Given the description of an element on the screen output the (x, y) to click on. 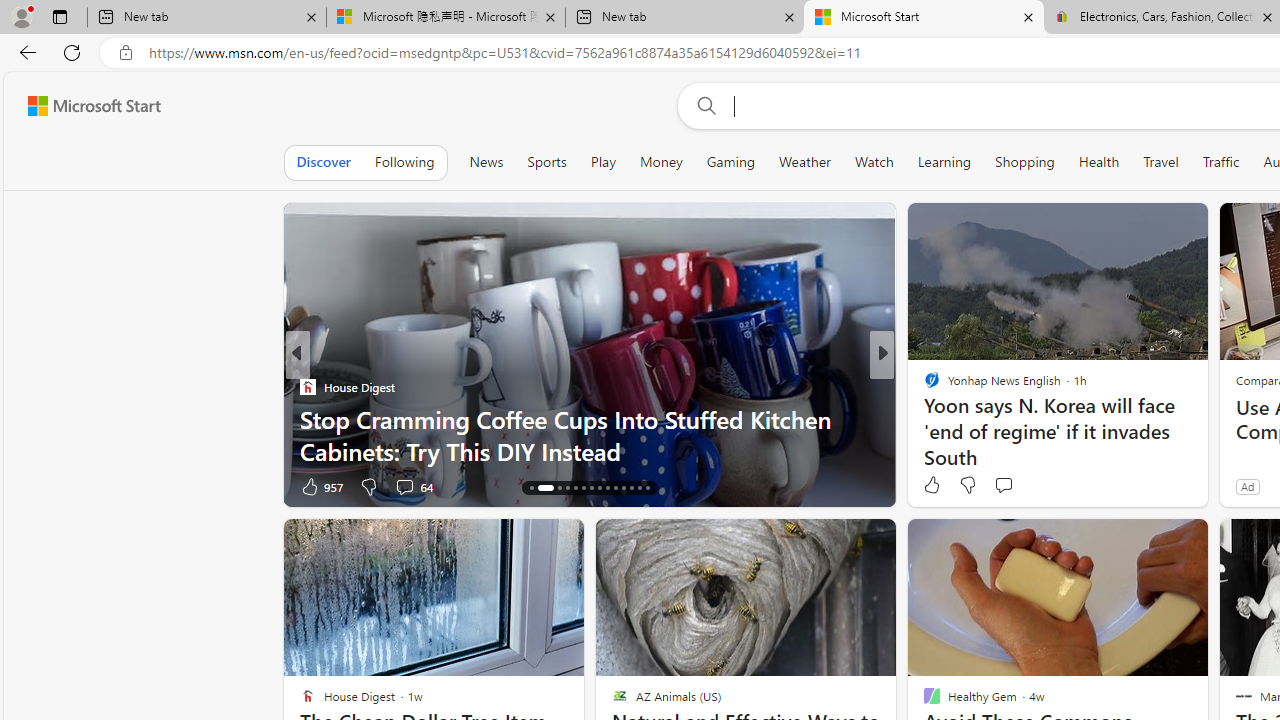
View comments 3 Comment (1026, 486)
Reuters (923, 386)
View comments 7 Comment (1026, 486)
AutomationID: tab-16 (545, 487)
View comments 3 Comment (1019, 485)
Kyiv Independent (923, 386)
EssentiallySports (923, 386)
Always Pets (923, 386)
